Given the description of an element on the screen output the (x, y) to click on. 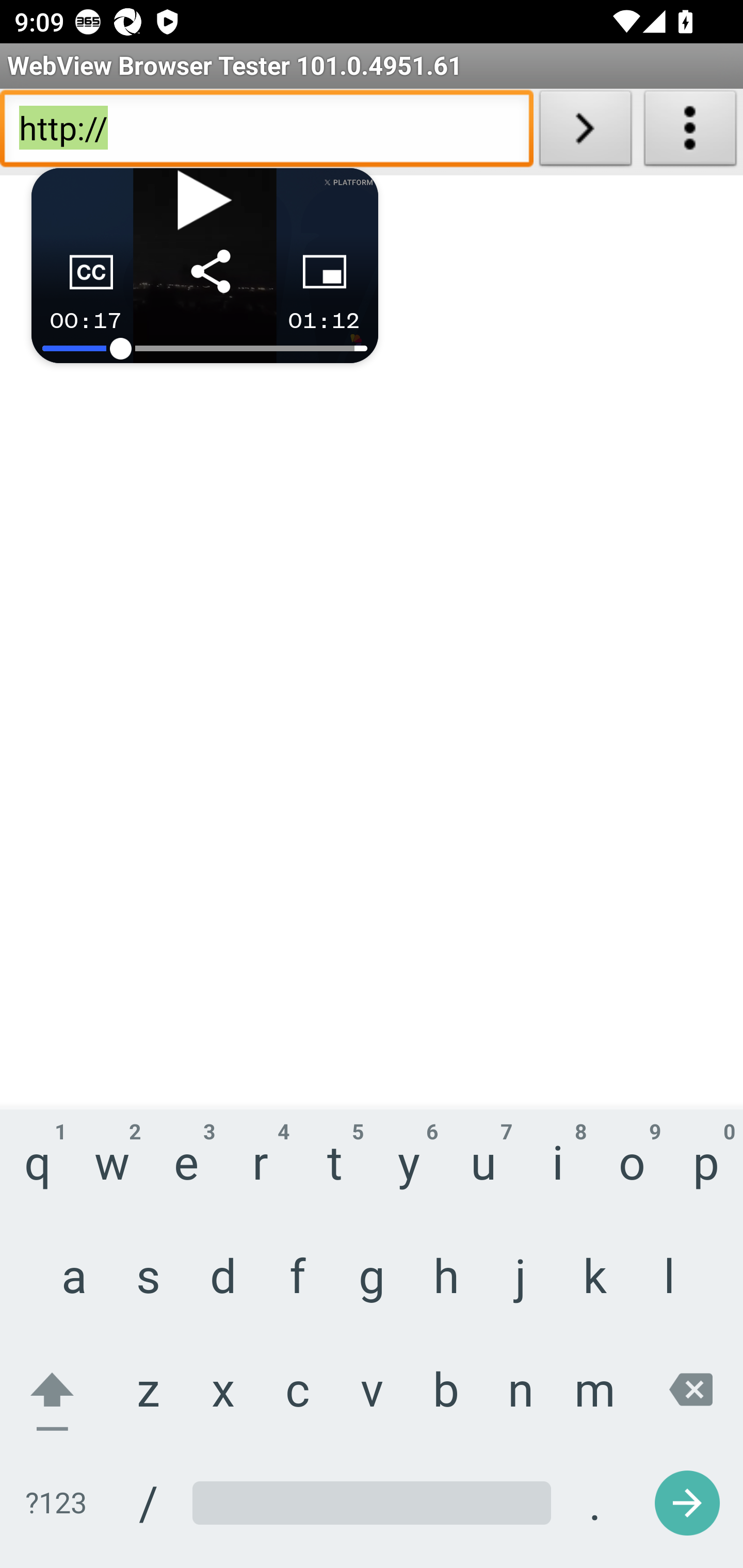
http:// (266, 132)
Load URL (585, 132)
About WebView (690, 132)
